Given the description of an element on the screen output the (x, y) to click on. 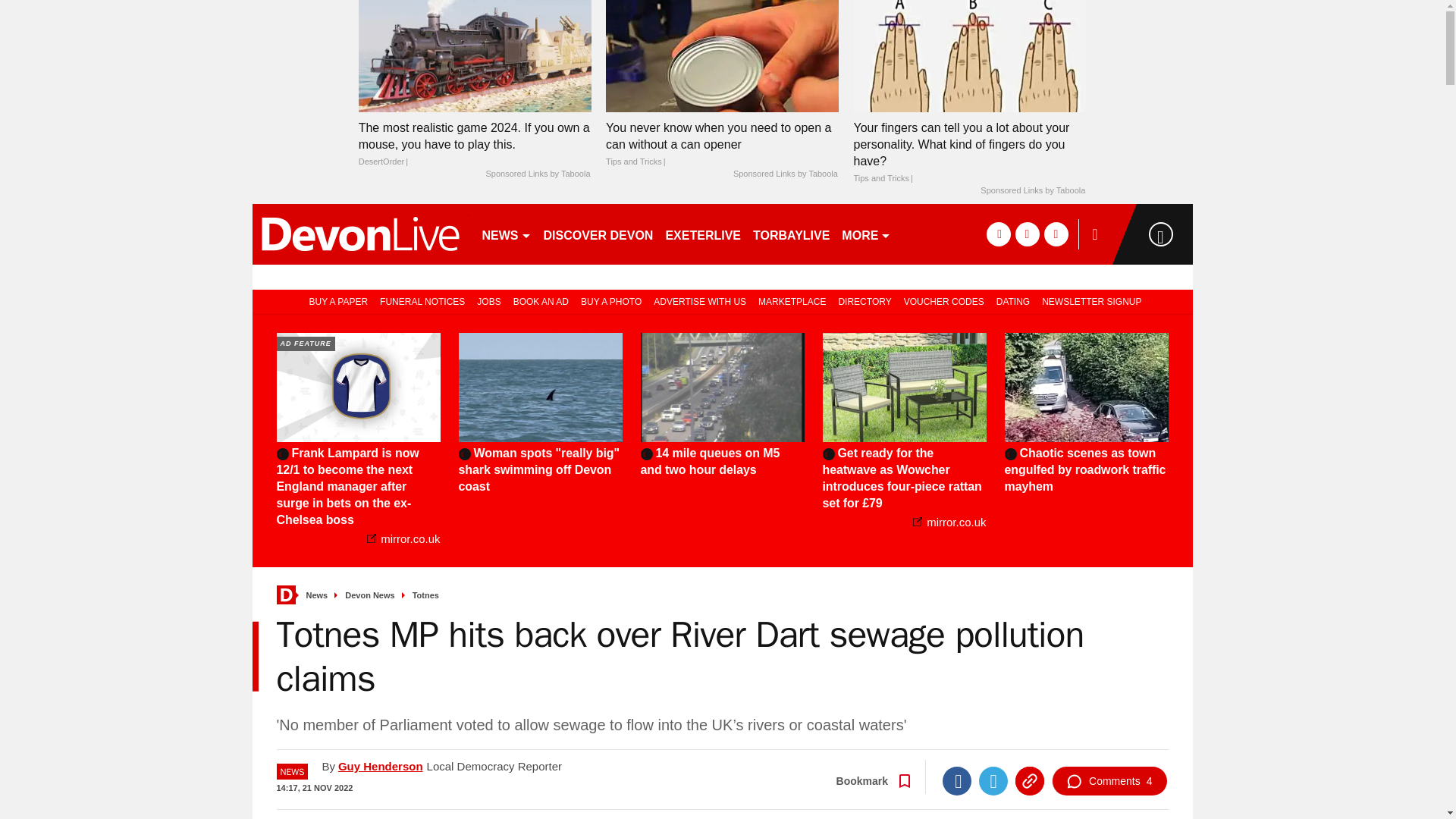
Sponsored Links by Taboola (536, 174)
NEWS (506, 233)
facebook (997, 233)
Sponsored Links by Taboola (1031, 190)
devonlive (359, 233)
Comments (1108, 780)
Facebook (956, 780)
Twitter (992, 780)
Sponsored Links by Taboola (785, 174)
instagram (1055, 233)
twitter (1026, 233)
